Given the description of an element on the screen output the (x, y) to click on. 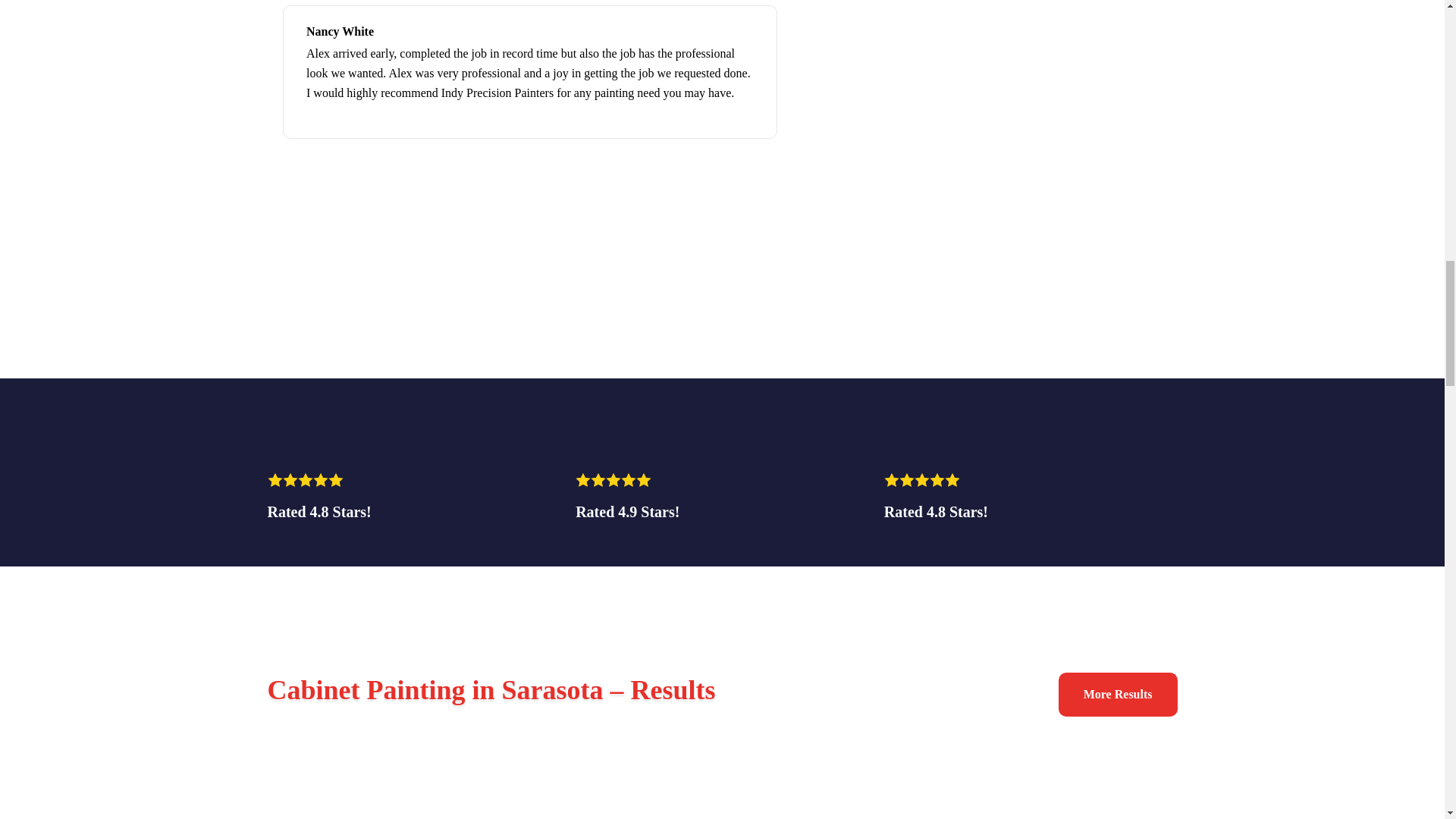
5 stars review indy precision painting (417, 32)
5 stars review indy precision paintings (922, 32)
